Given the description of an element on the screen output the (x, y) to click on. 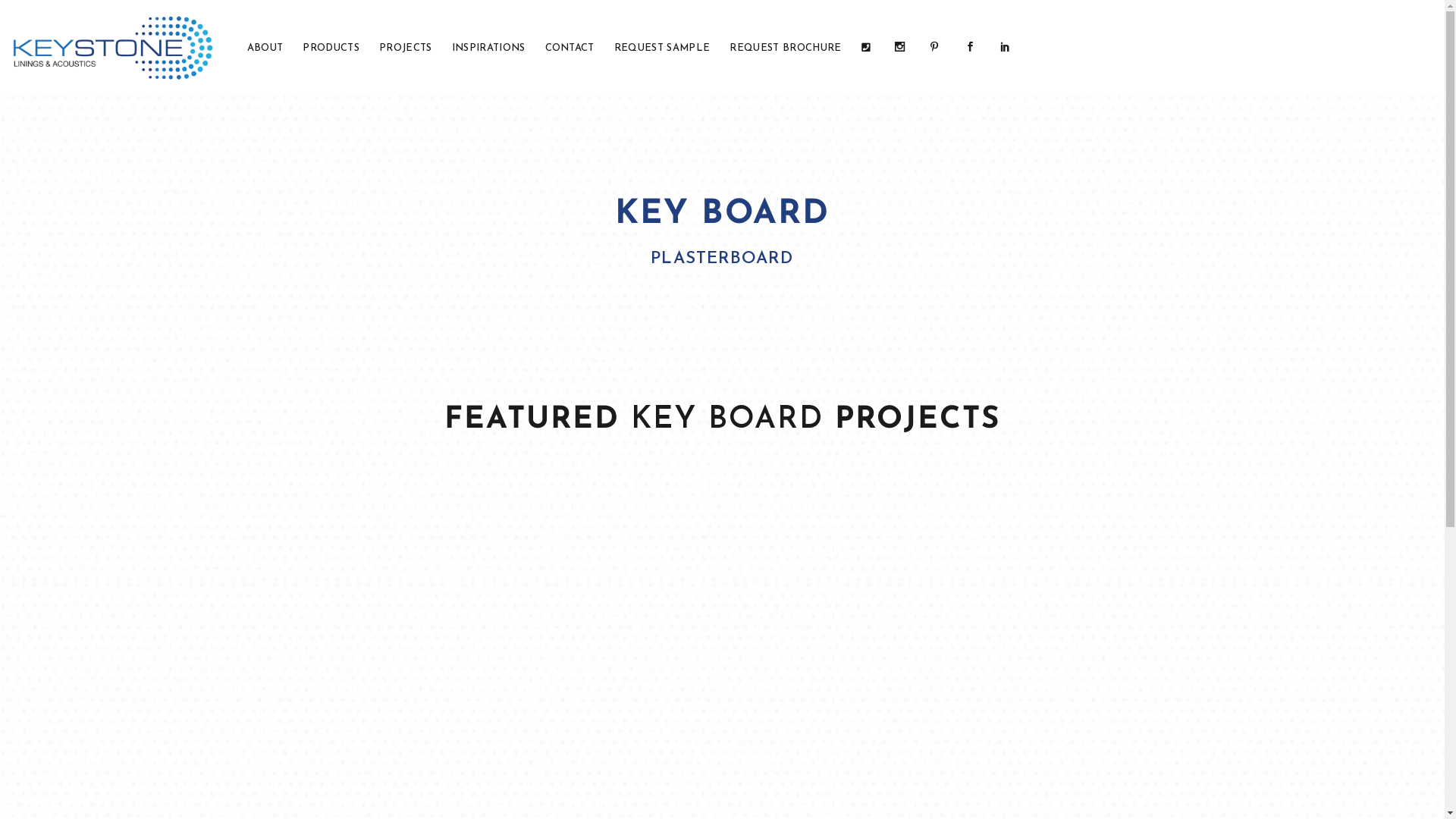
REQUEST BROCHURE Element type: text (784, 47)
CONTACT Element type: text (569, 47)
INSPIRATIONS Element type: text (488, 47)
REQUEST SAMPLE Element type: text (662, 47)
ABOUT Element type: text (265, 47)
PROJECTS Element type: text (405, 47)
PRODUCTS Element type: text (330, 47)
